Given the description of an element on the screen output the (x, y) to click on. 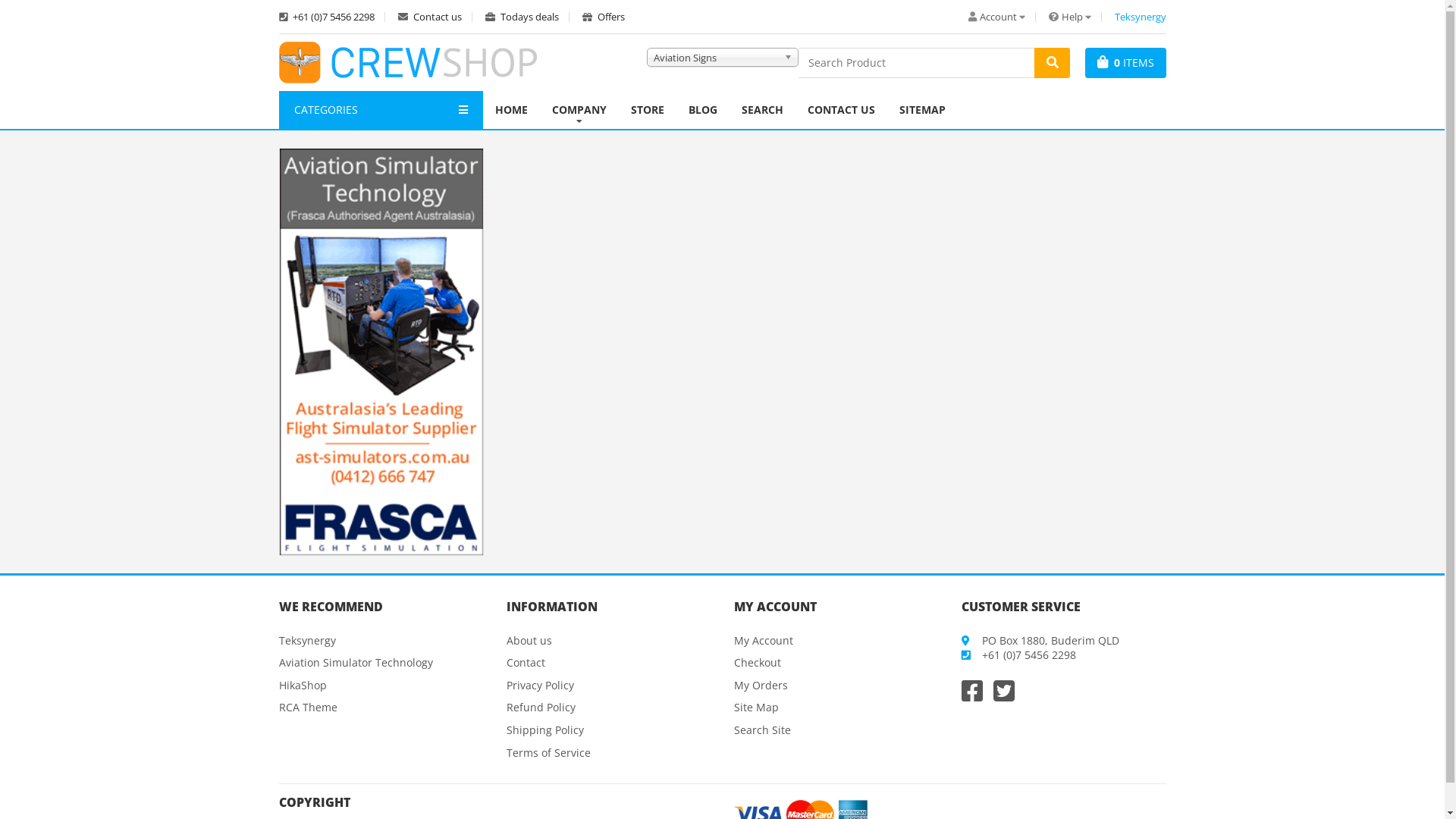
Contact Element type: text (525, 662)
Aviation Signs Element type: text (721, 56)
Todays deals Element type: text (527, 16)
SEARCH Element type: text (762, 109)
Teksynergy Element type: text (307, 640)
Aviation Simulatort Technology Element type: hover (380, 350)
CONTACT US Element type: text (841, 109)
Terms of Service Element type: text (548, 752)
Search Site Element type: text (762, 729)
Shipping Policy Element type: text (544, 729)
Aviation Simulator Technology Element type: text (356, 662)
My Account Element type: text (763, 640)
Site Map Element type: text (756, 706)
Checkout Element type: text (757, 662)
CATEGORIES Element type: text (381, 109)
BLOG Element type: text (702, 109)
STORE Element type: text (647, 109)
RCA Theme Element type: text (308, 706)
Refund Policy Element type: text (540, 706)
Contact us Element type: text (434, 16)
Privacy Policy Element type: text (540, 684)
HikaShop Element type: text (302, 684)
Teksynergy Element type: text (1140, 16)
About us Element type: text (529, 640)
My Orders Element type: text (760, 684)
+61 (0)7 5456 2298 Element type: text (332, 16)
HOME Element type: text (511, 109)
SITEMAP Element type: text (922, 109)
Offers Element type: text (603, 16)
